Given the description of an element on the screen output the (x, y) to click on. 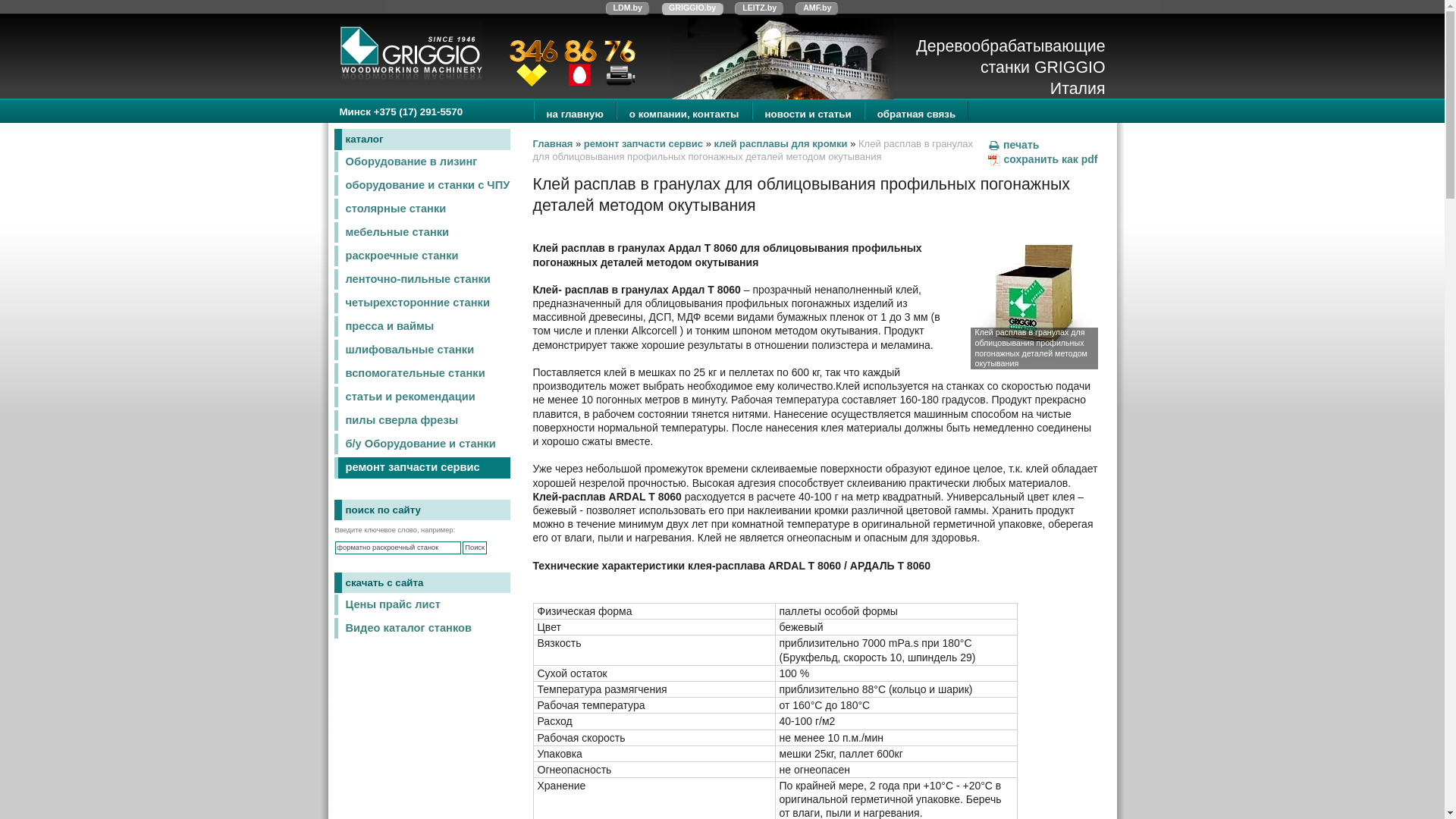
GRIGGIO.by Element type: text (692, 8)
AMF.by Element type: text (816, 8)
LEITZ.by Element type: text (759, 8)
LDM.by Element type: text (627, 8)
